Given the description of an element on the screen output the (x, y) to click on. 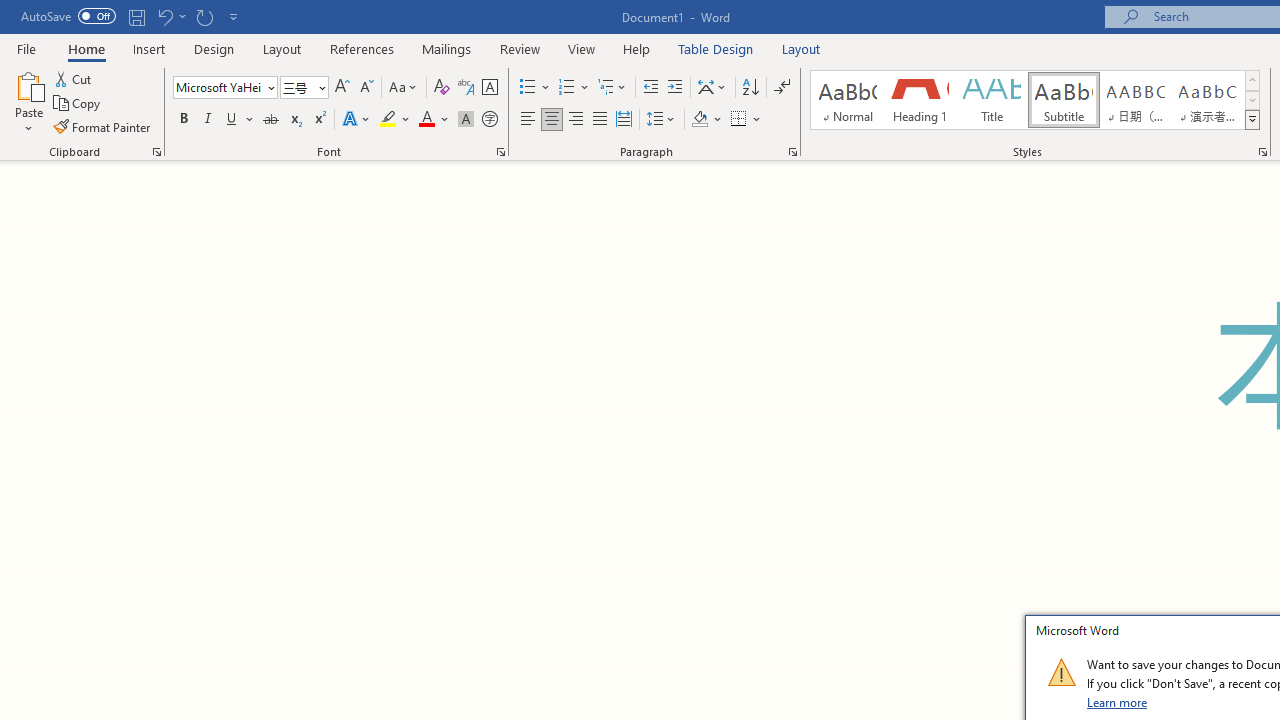
Grow Font (342, 87)
Subscript (294, 119)
Enclose Characters... (489, 119)
Align Left (527, 119)
Justify (599, 119)
Font Size (297, 87)
Bullets (527, 87)
Distributed (623, 119)
AutoSave (68, 16)
Font (224, 87)
Subtitle (1063, 100)
Table Design (715, 48)
Font... (500, 151)
Shading RGB(0, 0, 0) (699, 119)
Text Highlight Color (395, 119)
